Given the description of an element on the screen output the (x, y) to click on. 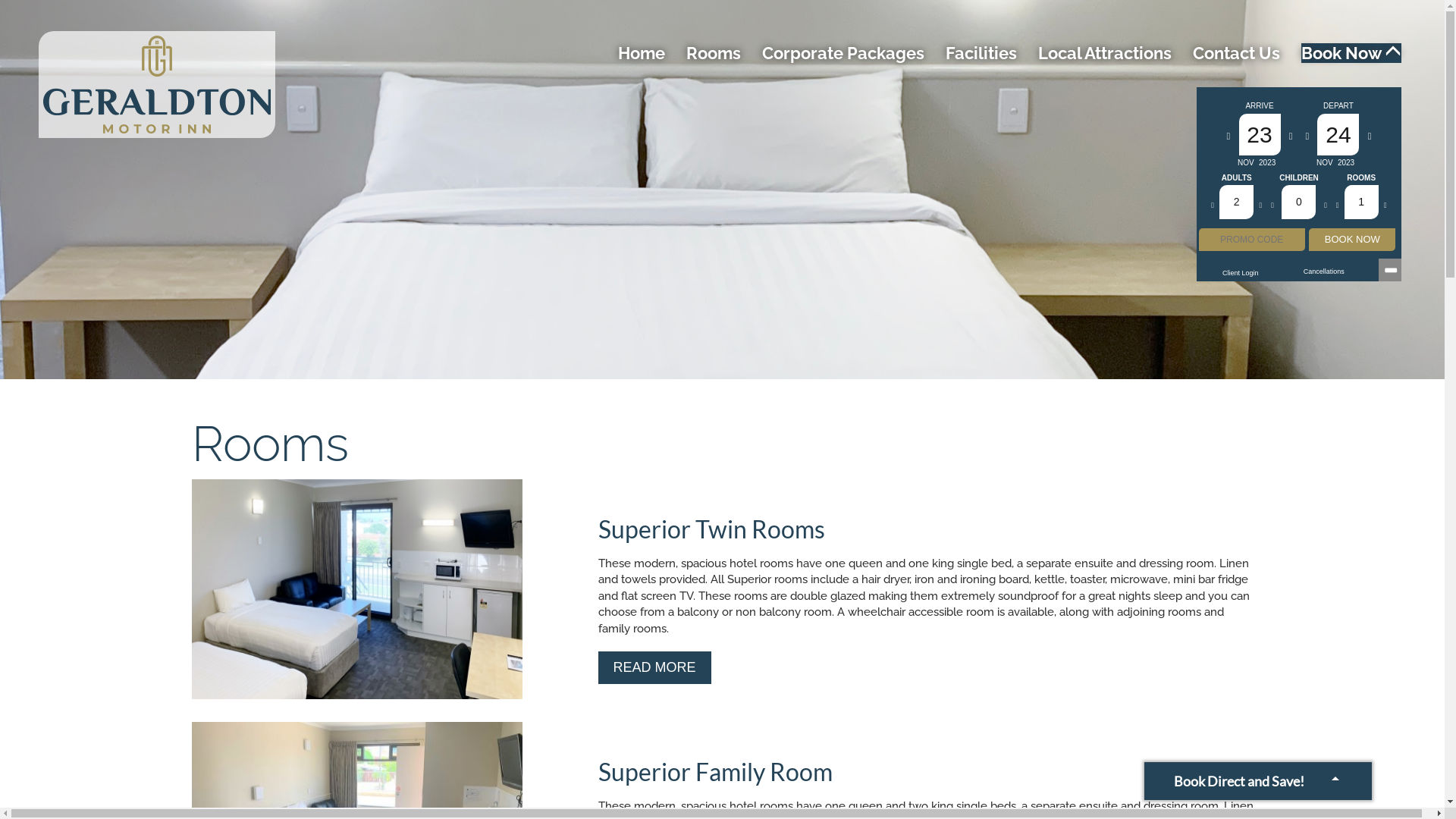
Local Attractions Element type: text (1104, 52)
BOOK NOW Element type: text (1351, 239)
Home Element type: text (641, 52)
Client Login Element type: text (1240, 272)
Book Now Element type: text (1351, 52)
Rooms Element type: text (713, 52)
Cancellations Element type: text (1323, 271)
Corporate Packages Element type: text (843, 52)
Superior Family Room Element type: text (714, 771)
Superior Twin Rooms Element type: text (710, 528)
Contact Us Element type: text (1236, 52)
Facilities Element type: text (980, 52)
READ MORE Element type: text (653, 666)
